Given the description of an element on the screen output the (x, y) to click on. 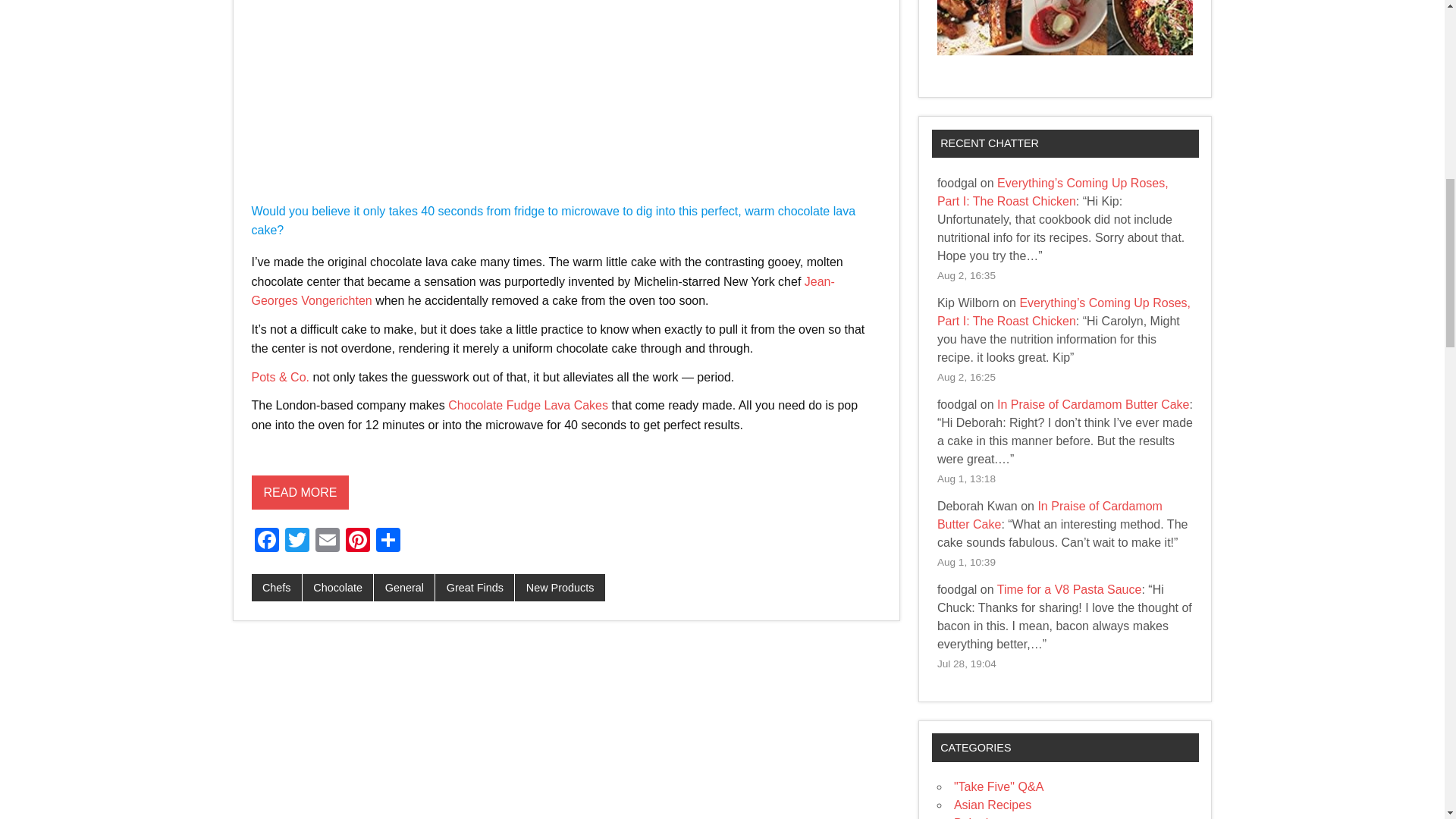
Chefs (276, 587)
Bakeries (977, 817)
Twitter (297, 541)
Pinterest (357, 541)
Chocolate Fudge Lava Cakes (528, 404)
Asian Recipes (991, 804)
Email (327, 541)
New Products (559, 587)
Share (387, 541)
Facebook (266, 541)
Time for a V8 Pasta Sauce (1069, 589)
Email (327, 541)
General (403, 587)
Twitter (297, 541)
Jean-Georges Vongerichten (542, 291)
